Given the description of an element on the screen output the (x, y) to click on. 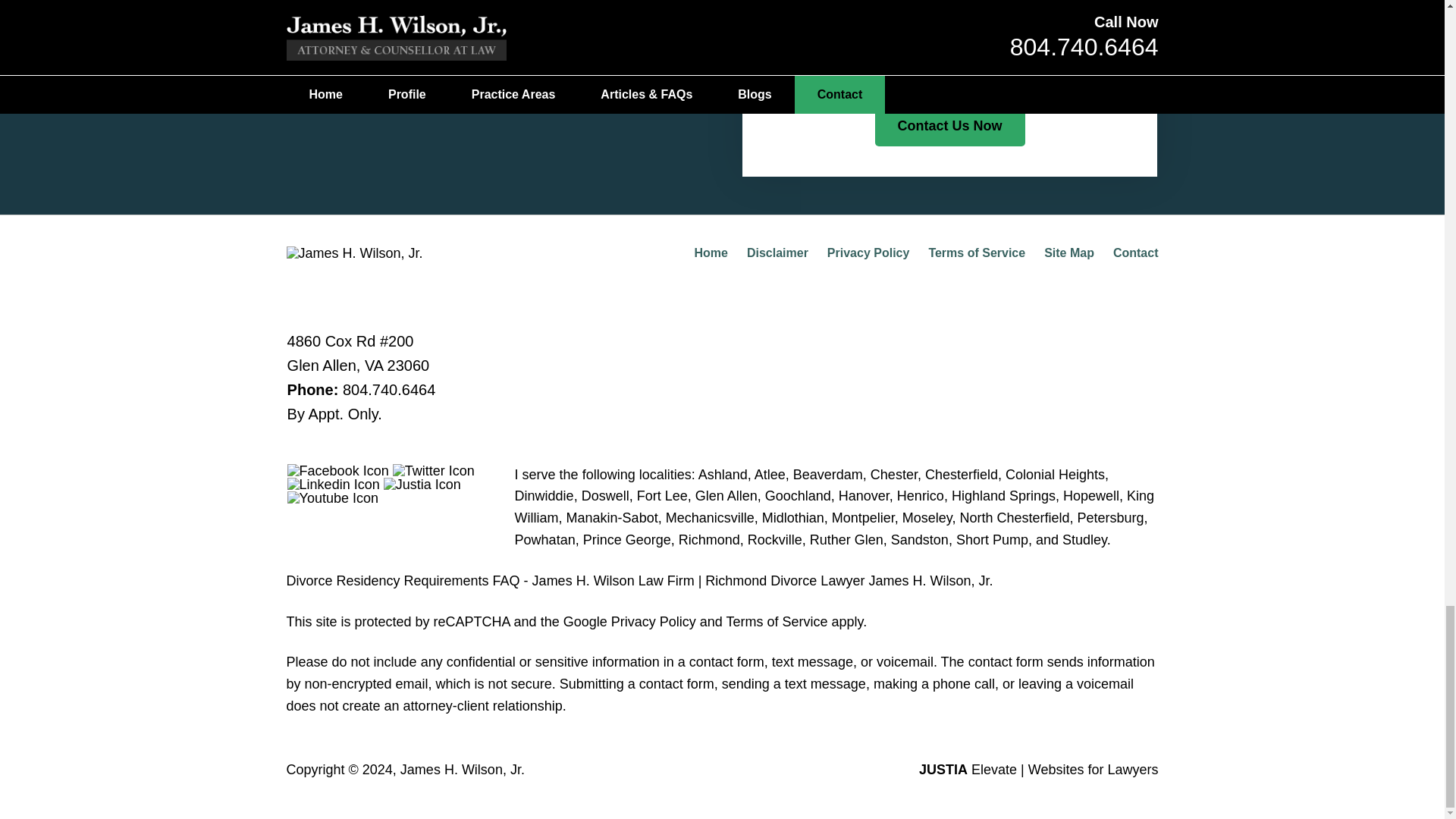
Facebook (337, 470)
Disclaimer (777, 252)
Home (710, 252)
804.740.6464 (388, 389)
Youtube (332, 498)
Privacy Policy (868, 252)
Terms of Service (976, 252)
Contact Us Now (950, 126)
Justia (422, 484)
Linkedin (333, 484)
